Given the description of an element on the screen output the (x, y) to click on. 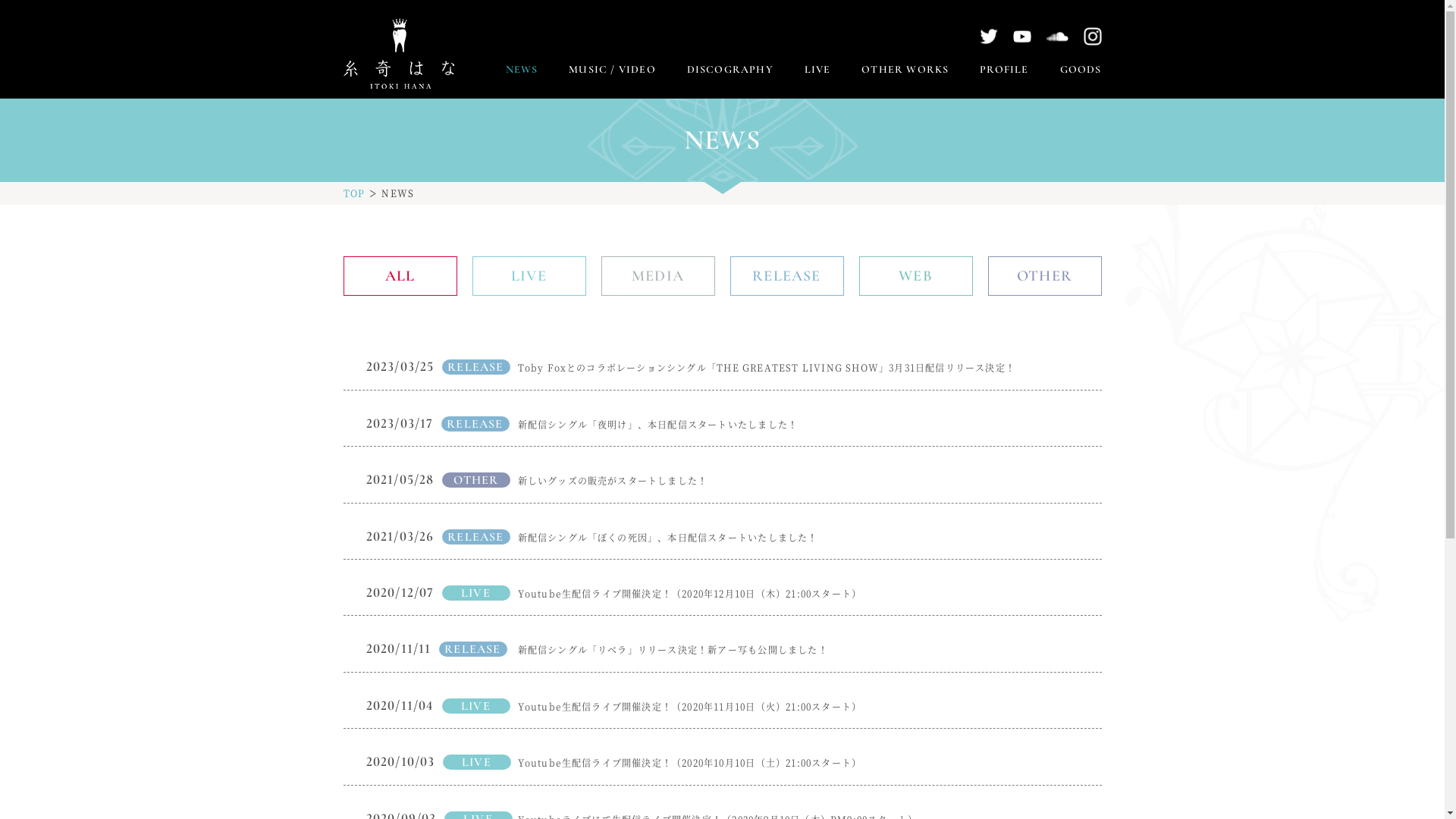
DISCOGRAPHY Element type: text (730, 68)
OTHER WORKS Element type: text (904, 68)
OTHER Element type: text (1044, 275)
PROFILE Element type: text (1003, 68)
RELEASE Element type: text (786, 275)
LIVE Element type: text (528, 275)
WEB Element type: text (915, 275)
NEWS Element type: text (521, 68)
GOODS Element type: text (1080, 68)
LIVE Element type: text (817, 68)
ALL Element type: text (399, 275)
TOP Element type: text (353, 192)
MEDIA Element type: text (657, 275)
MUSIC / VIDEO Element type: text (611, 68)
